Given the description of an element on the screen output the (x, y) to click on. 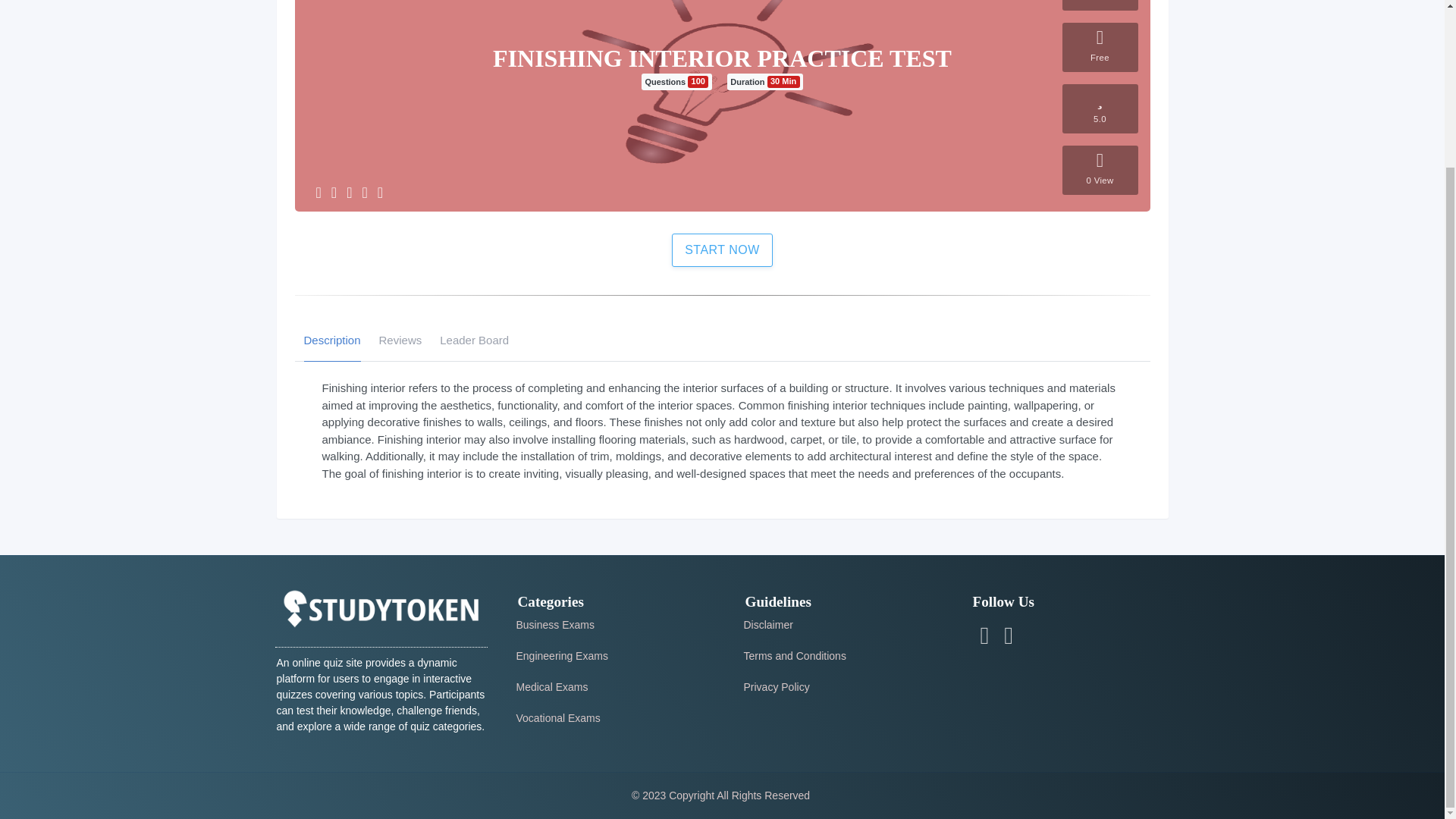
Business Exams (554, 624)
Medical Exams (551, 686)
Disclaimer (767, 624)
Reviews (400, 340)
Terms and Conditions (793, 655)
Description (330, 340)
Vocational Exams (557, 717)
Privacy Policy (775, 686)
START NOW (722, 249)
Engineering Exams (561, 655)
Leader Board (473, 340)
